Given the description of an element on the screen output the (x, y) to click on. 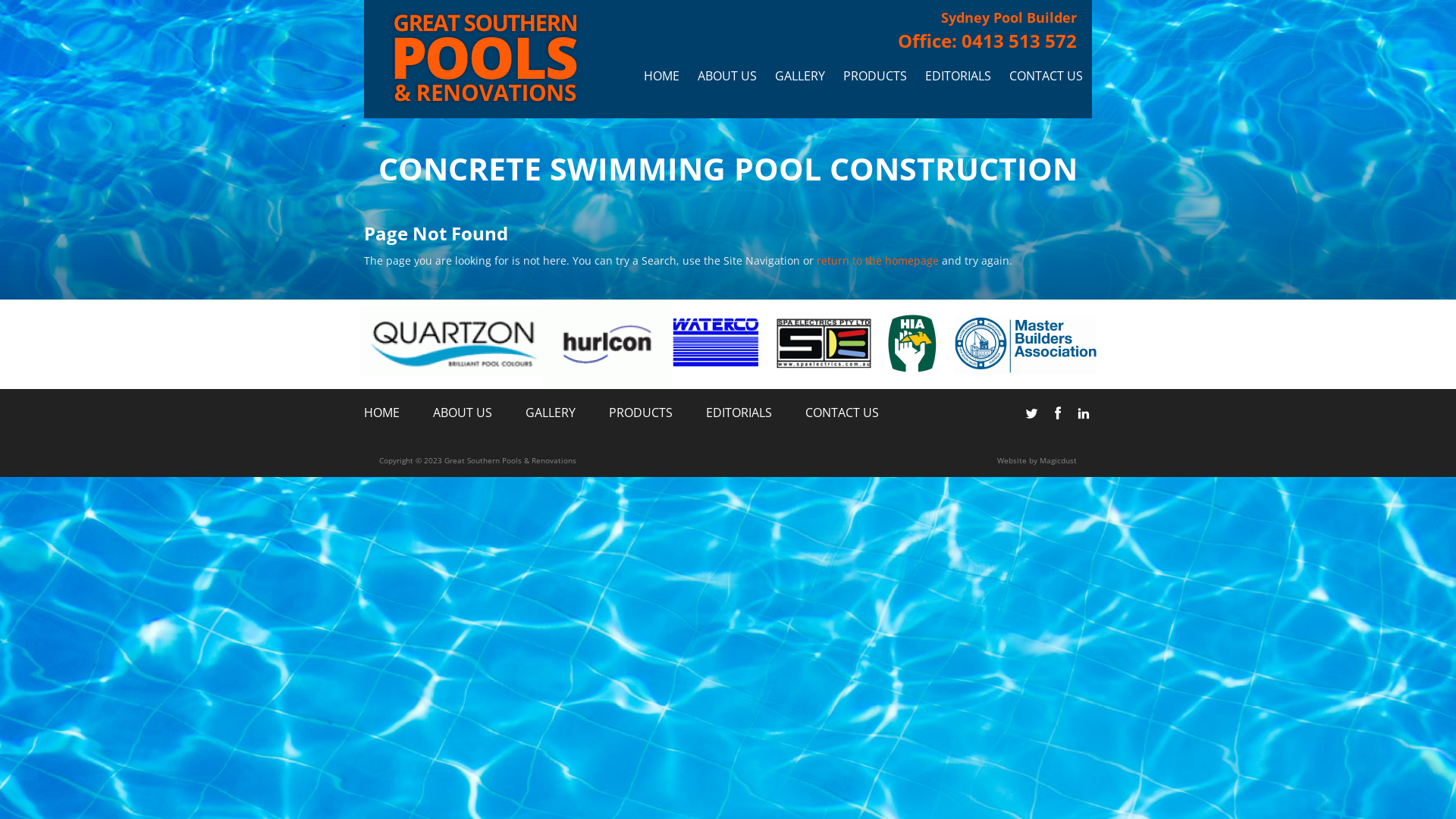
EDITORIALS Element type: text (738, 412)
HOME Element type: text (661, 75)
Great Southern Pools & Renovations Element type: text (482, 59)
return to the homepage Element type: text (877, 260)
PRODUCTS Element type: text (875, 75)
ABOUT US Element type: text (462, 412)
PRODUCTS Element type: text (640, 412)
CONTACT US Element type: text (1046, 75)
0413 513 572 Element type: text (1018, 40)
Magicdust Element type: text (1057, 460)
CONTACT US Element type: text (841, 412)
ABOUT US Element type: text (726, 75)
GALLERY Element type: text (550, 412)
EDITORIALS Element type: text (958, 75)
HOME Element type: text (381, 412)
GALLERY Element type: text (799, 75)
